Given the description of an element on the screen output the (x, y) to click on. 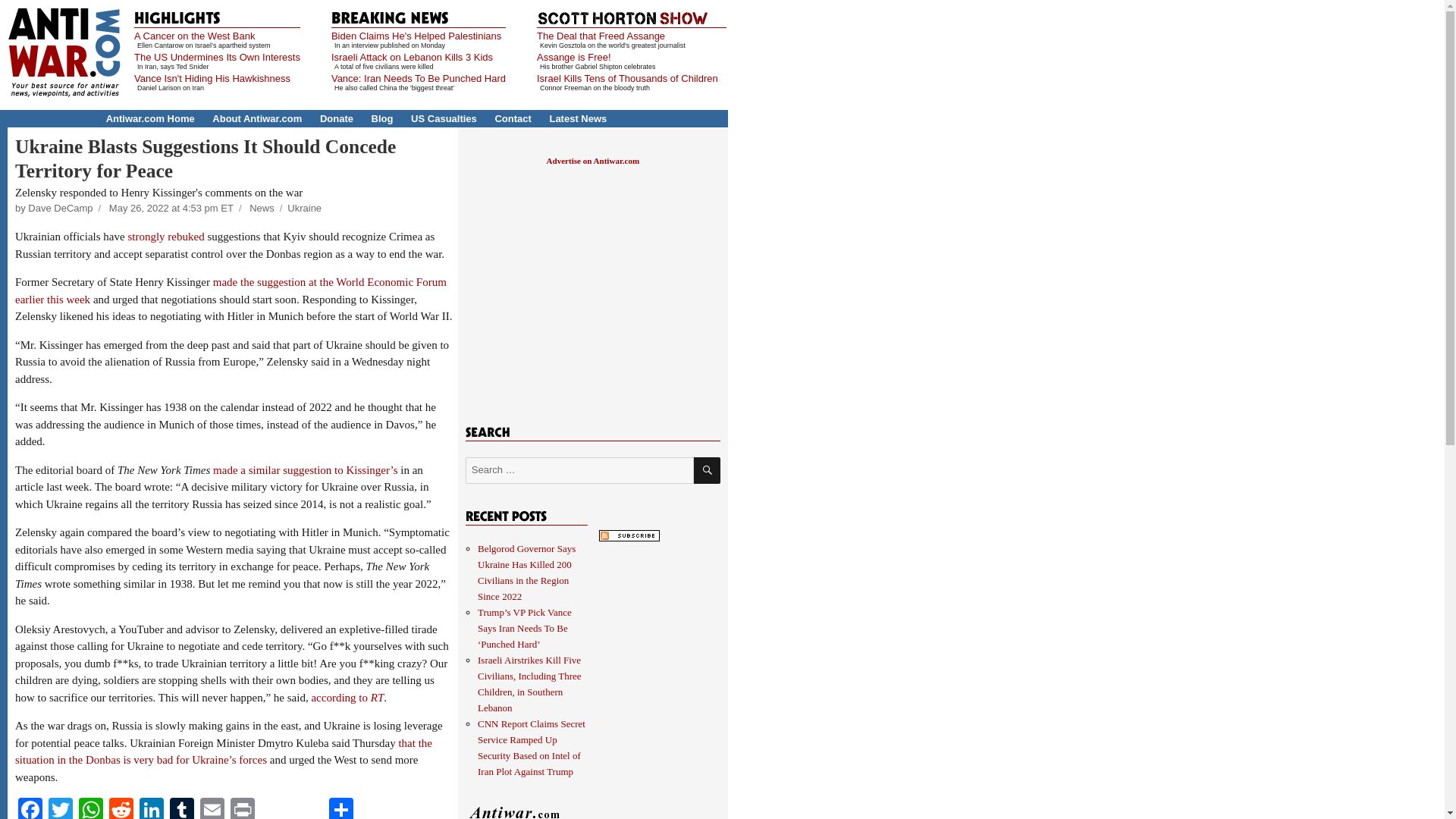
Assange is Free! (574, 57)
Latest News (577, 118)
Vance Isn't Hiding His Hawkishness (211, 78)
The Deal that Freed Assange (601, 35)
Twitter (60, 808)
Blog (382, 118)
Reddit (121, 808)
Donate (336, 118)
A Cancer on the West Bank (193, 35)
Contact (513, 118)
Facebook (29, 808)
WhatsApp (90, 808)
US Casualties (443, 118)
Reddit (121, 808)
according to RT (347, 697)
